Given the description of an element on the screen output the (x, y) to click on. 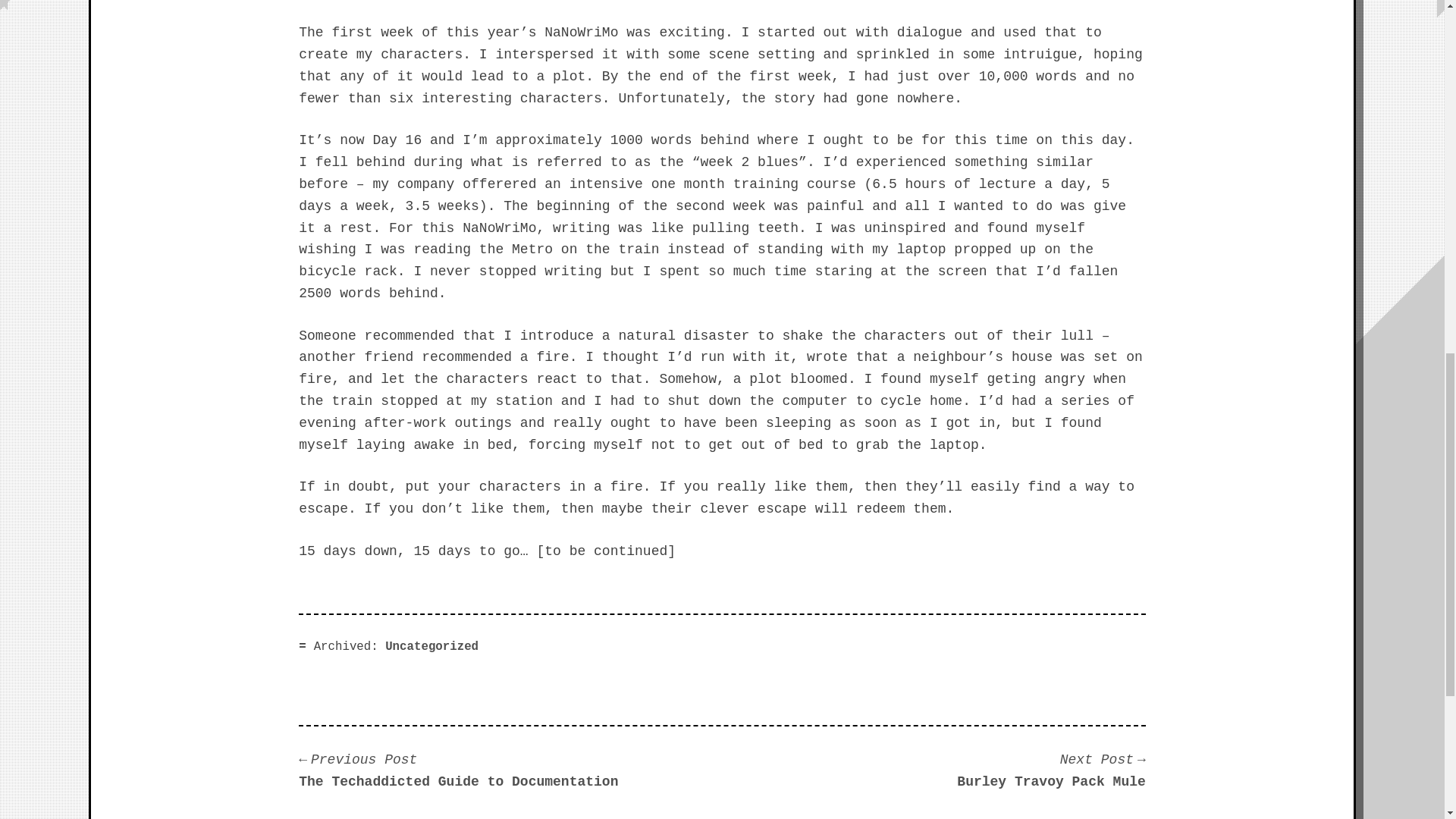
Uncategorized (432, 646)
